Given the description of an element on the screen output the (x, y) to click on. 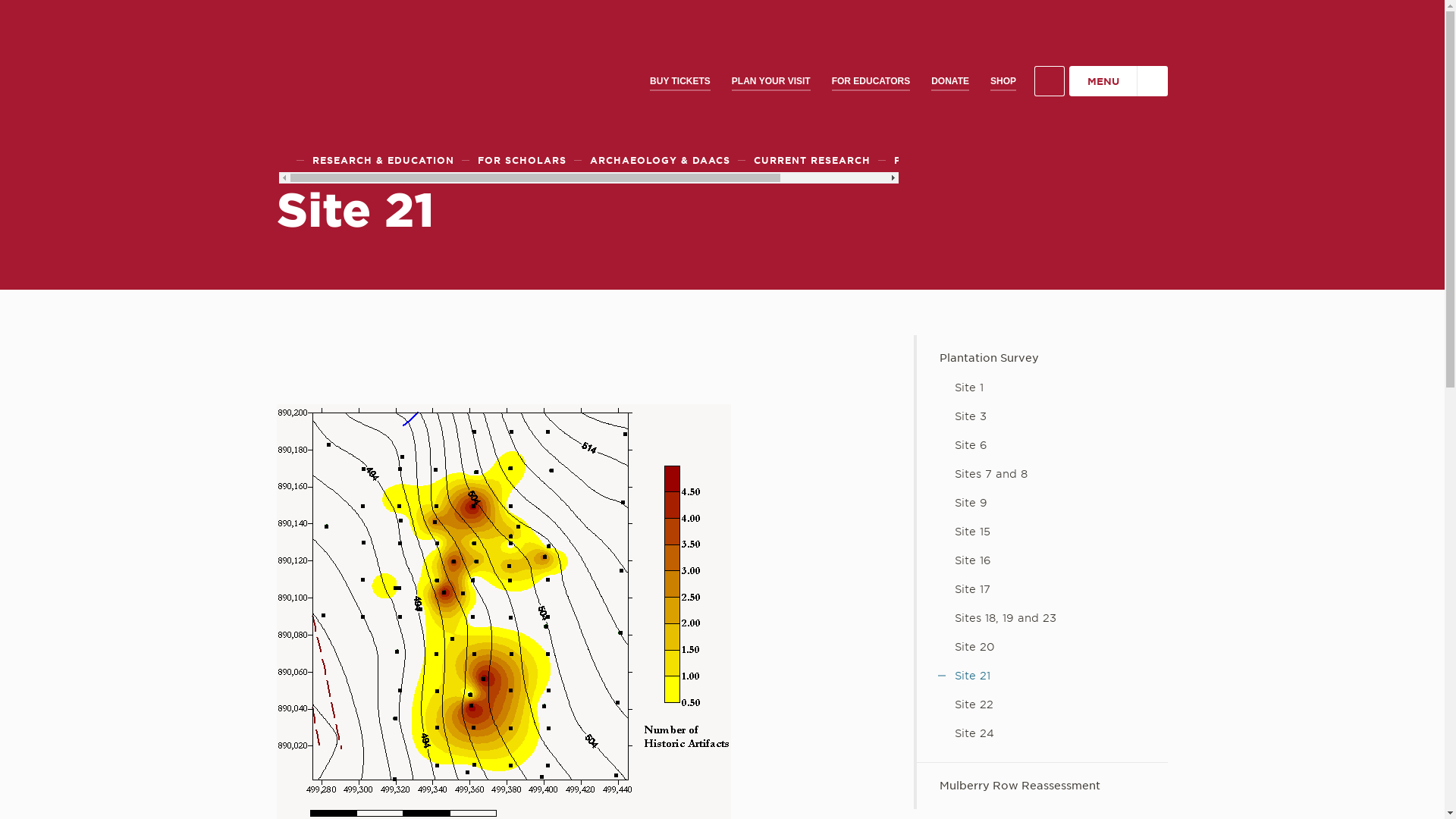
Site 9 (1042, 502)
Sites 18, 19 and 23 (1042, 618)
Thomas Jefferson's Monticello (391, 63)
Mulberry Row Reassessment (1042, 785)
PLANTATION SURVEY (953, 160)
Plantation Survey (1042, 357)
Site 3 (1042, 416)
Site 24 (1042, 733)
MENU (1117, 81)
Site 21 (1042, 676)
